Given the description of an element on the screen output the (x, y) to click on. 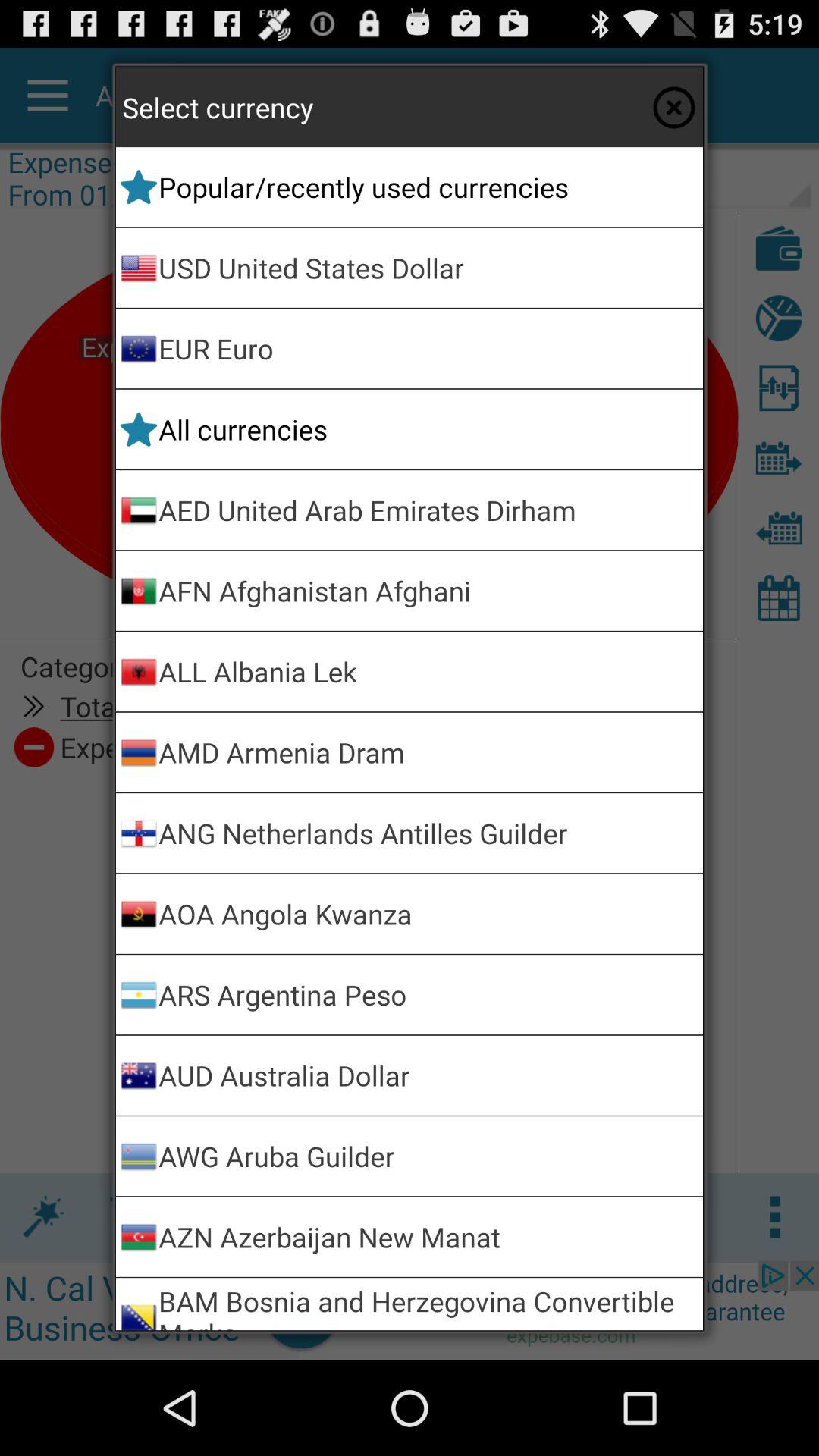
click the app below the ars argentina peso (427, 1075)
